Given the description of an element on the screen output the (x, y) to click on. 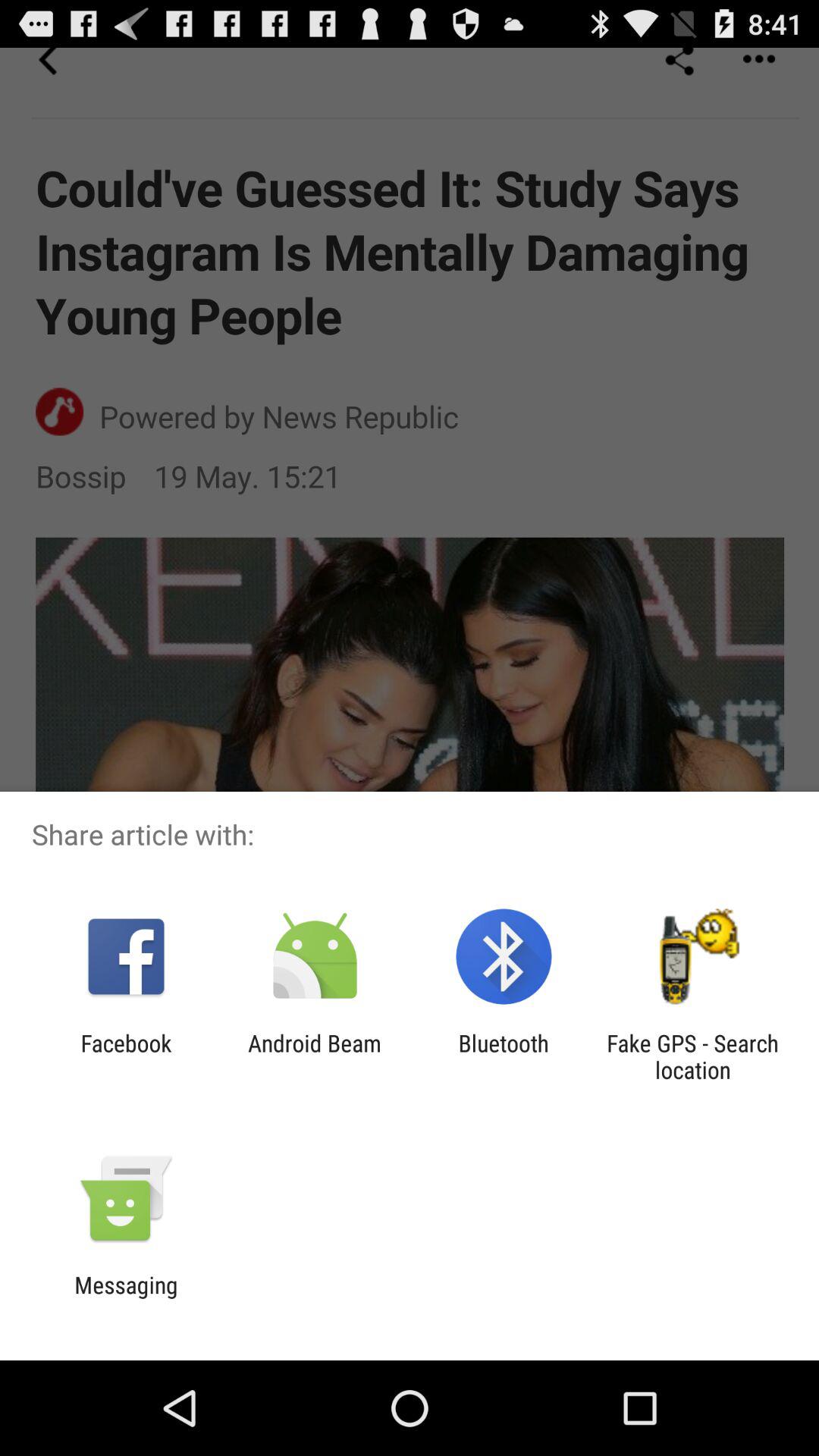
launch icon to the left of the android beam item (125, 1056)
